Given the description of an element on the screen output the (x, y) to click on. 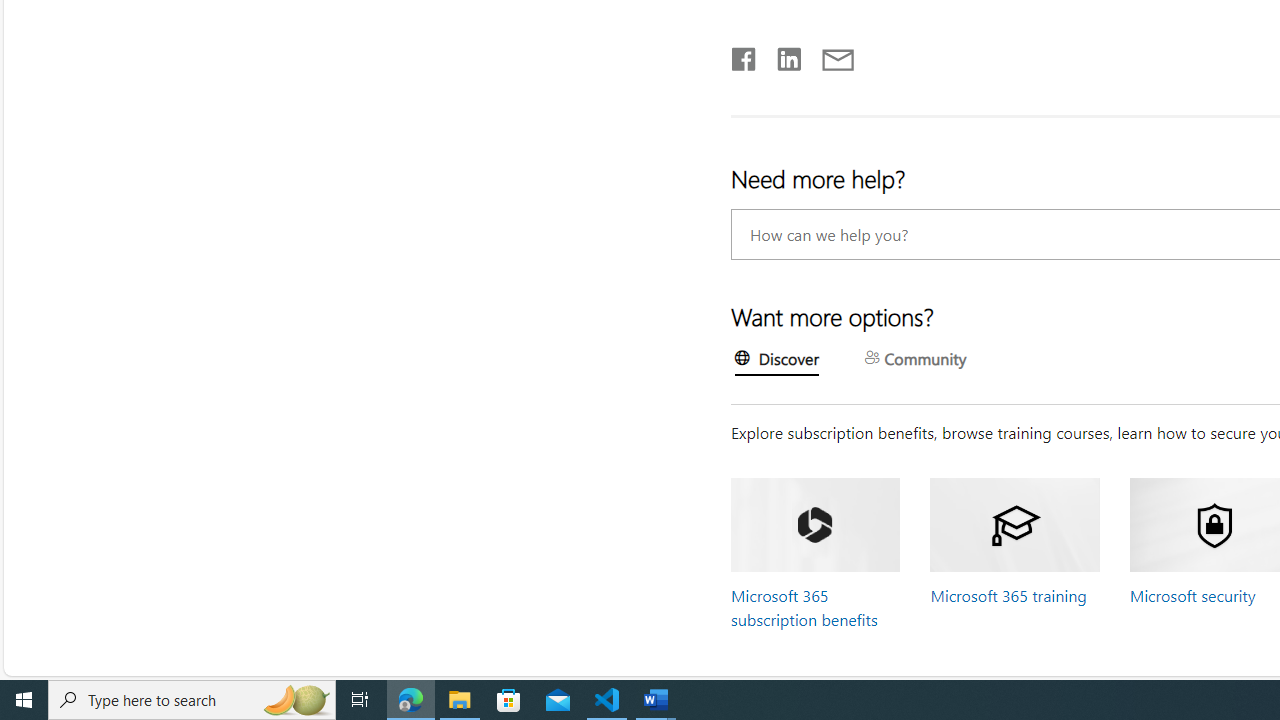
Facebook (743, 55)
Share on Facebook (744, 55)
Share on LinkedIn (780, 55)
LinkedIn (788, 55)
Microsoft 365 training (1008, 595)
Community (915, 360)
Microsoft security (1191, 595)
Share by email (827, 55)
Discover (777, 361)
Microsoft 365 subscription benefits (804, 607)
Email (836, 55)
